Given the description of an element on the screen output the (x, y) to click on. 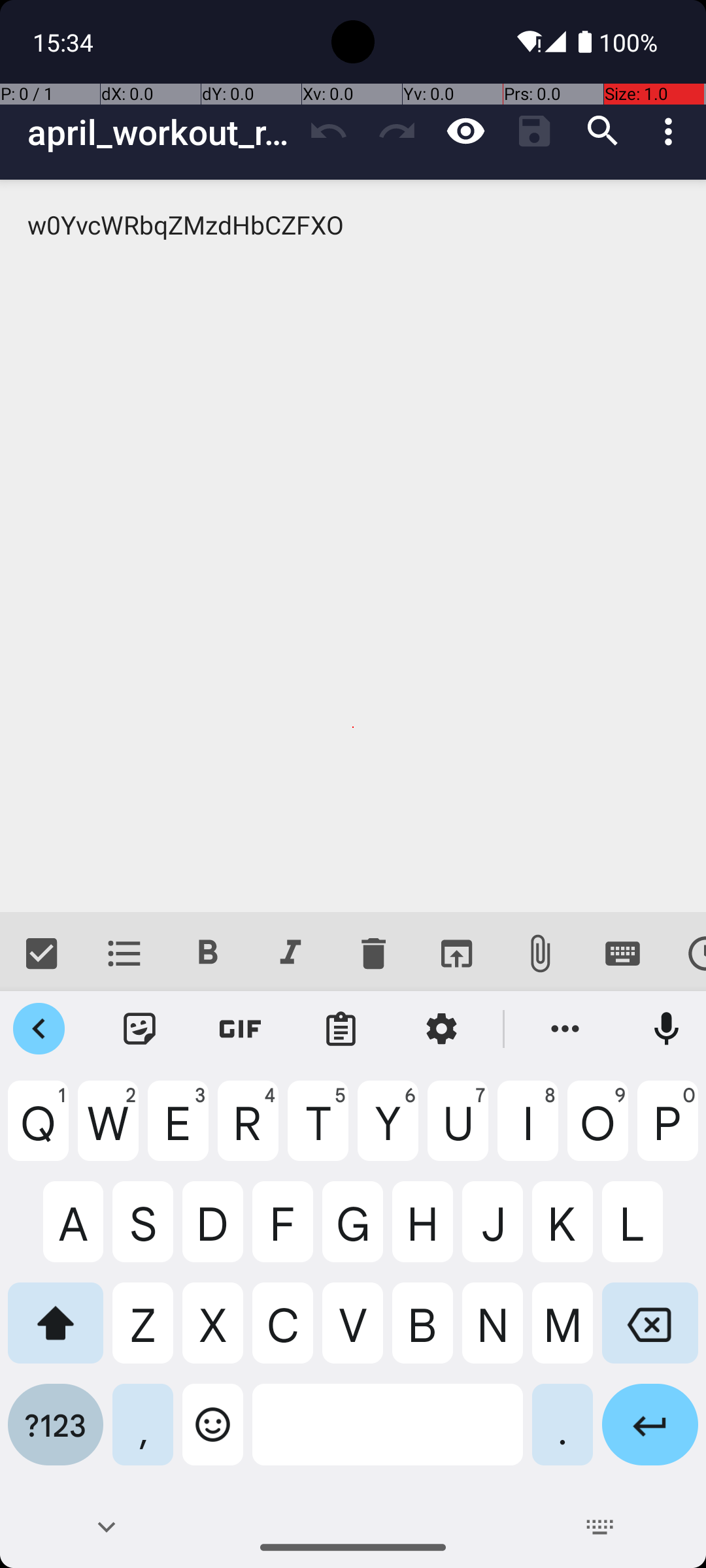
april_workout_routine_backup Element type: android.widget.TextView (160, 131)
w0YvcWRbqZMzdHbCZFXO
 Element type: android.widget.EditText (353, 545)
